Given the description of an element on the screen output the (x, y) to click on. 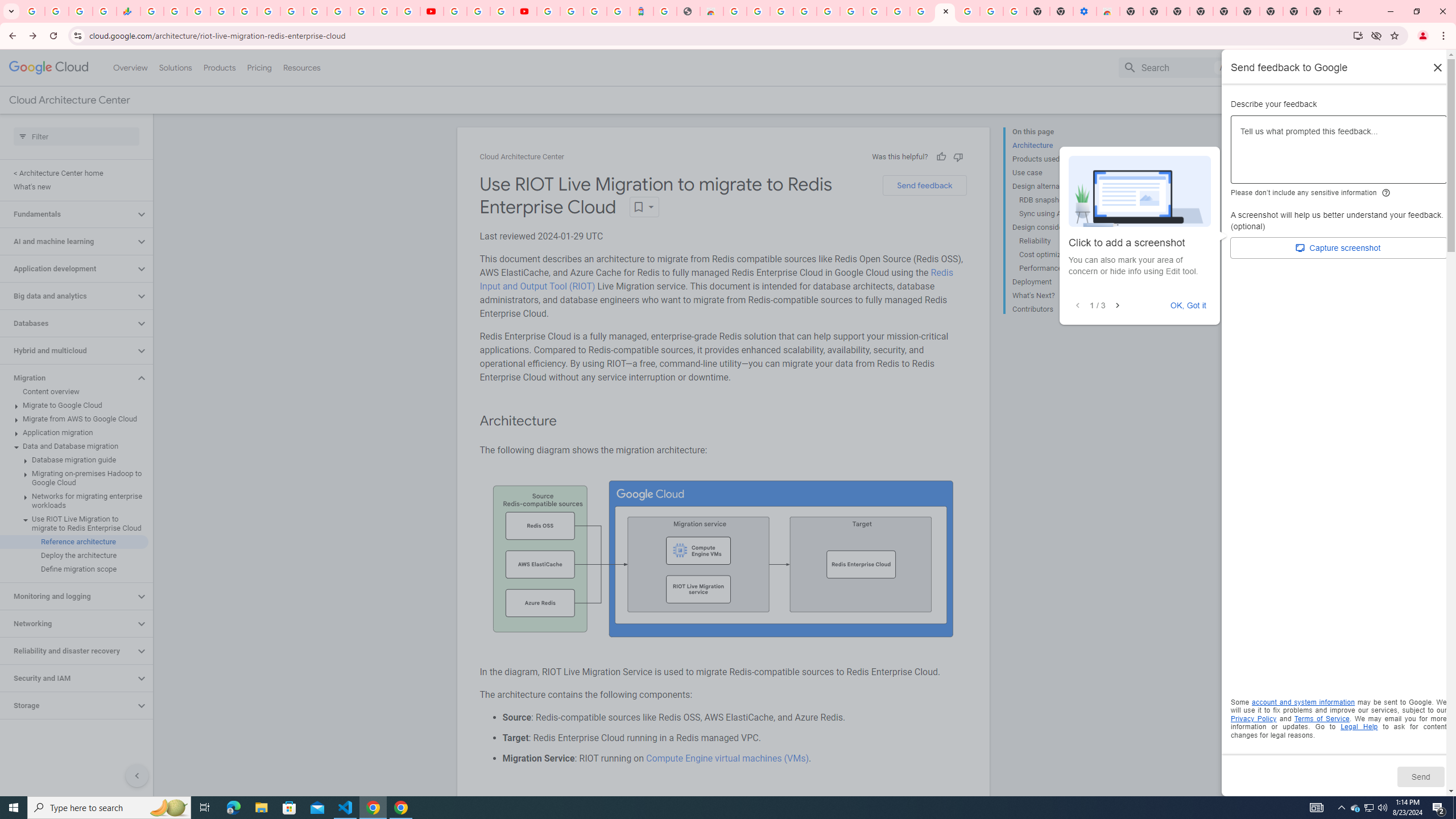
Search (1174, 67)
Ad Settings (804, 11)
Products used (1058, 159)
Atour Hotel - Google hotels (641, 11)
Capture screenshot (1338, 247)
Define migration scope (74, 568)
Turn cookies on or off - Computer - Google Account Help (1015, 11)
What's Next? (1058, 295)
Sign in - Google Accounts (827, 11)
Install Google Cloud (1358, 35)
English (1359, 67)
Third-party cookies blocked (1376, 35)
OK, Got it (1188, 305)
